Given the description of an element on the screen output the (x, y) to click on. 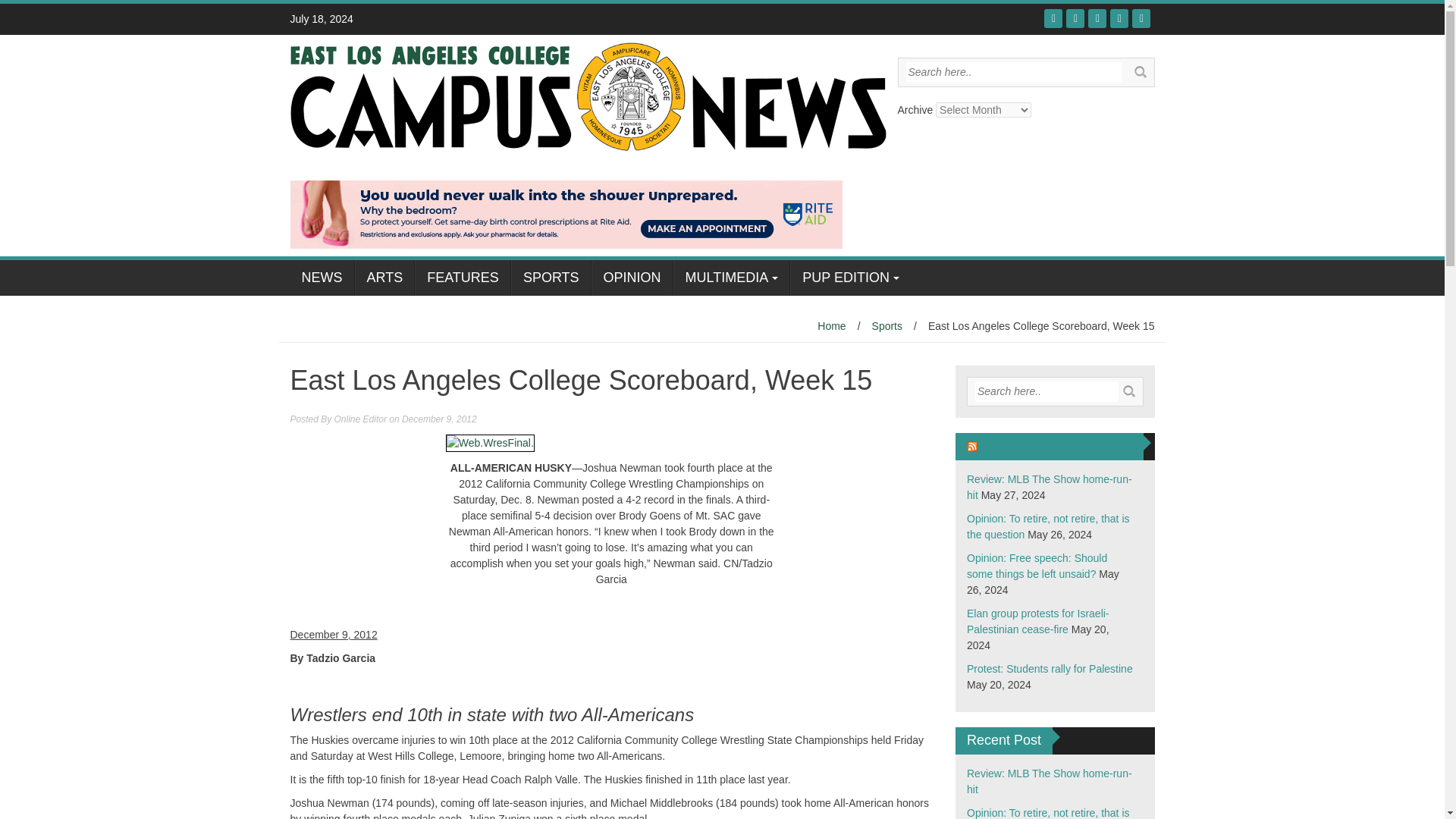
Search here.. (1046, 391)
ARTS (384, 277)
Sports (887, 326)
Home (830, 326)
Email (1141, 18)
Twitter (1074, 18)
NEWS (321, 277)
FEATURES (462, 277)
Instagram (1118, 18)
Search here.. (1013, 72)
Online Editor (360, 419)
Posts by Online Editor (360, 419)
Youtube (1096, 18)
East Los Angeles College Campus News (587, 95)
OPINION (631, 277)
